Given the description of an element on the screen output the (x, y) to click on. 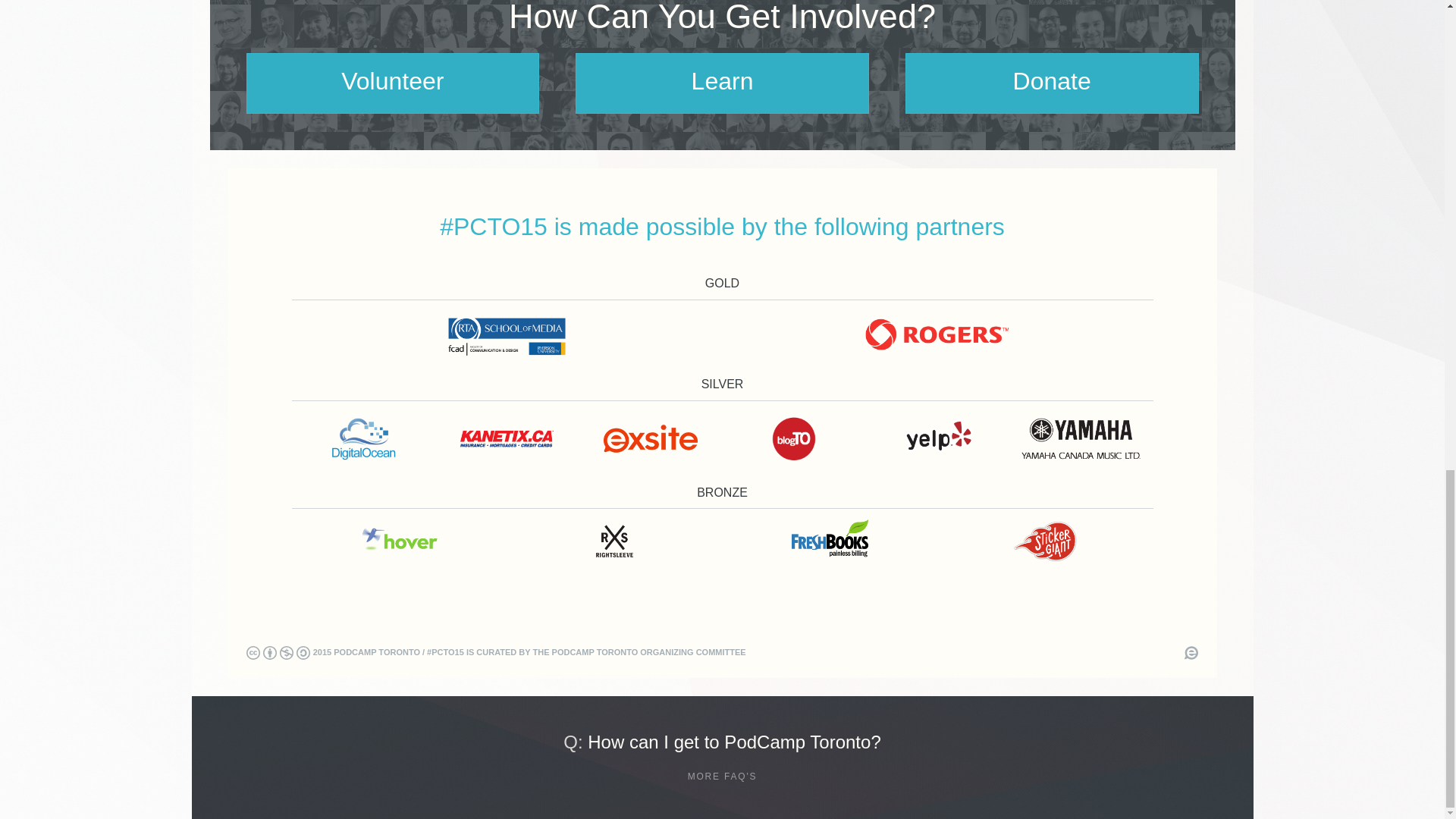
Kanetix (506, 438)
Hover (399, 541)
PODCAMP TORONTO ORGANIZING COMMITTEE (648, 651)
Yamaha Music Canada (1081, 438)
Yelp (937, 438)
Sticker Giant (1045, 541)
Rogers (937, 334)
Ryerson (506, 334)
Exsite (650, 438)
